Given the description of an element on the screen output the (x, y) to click on. 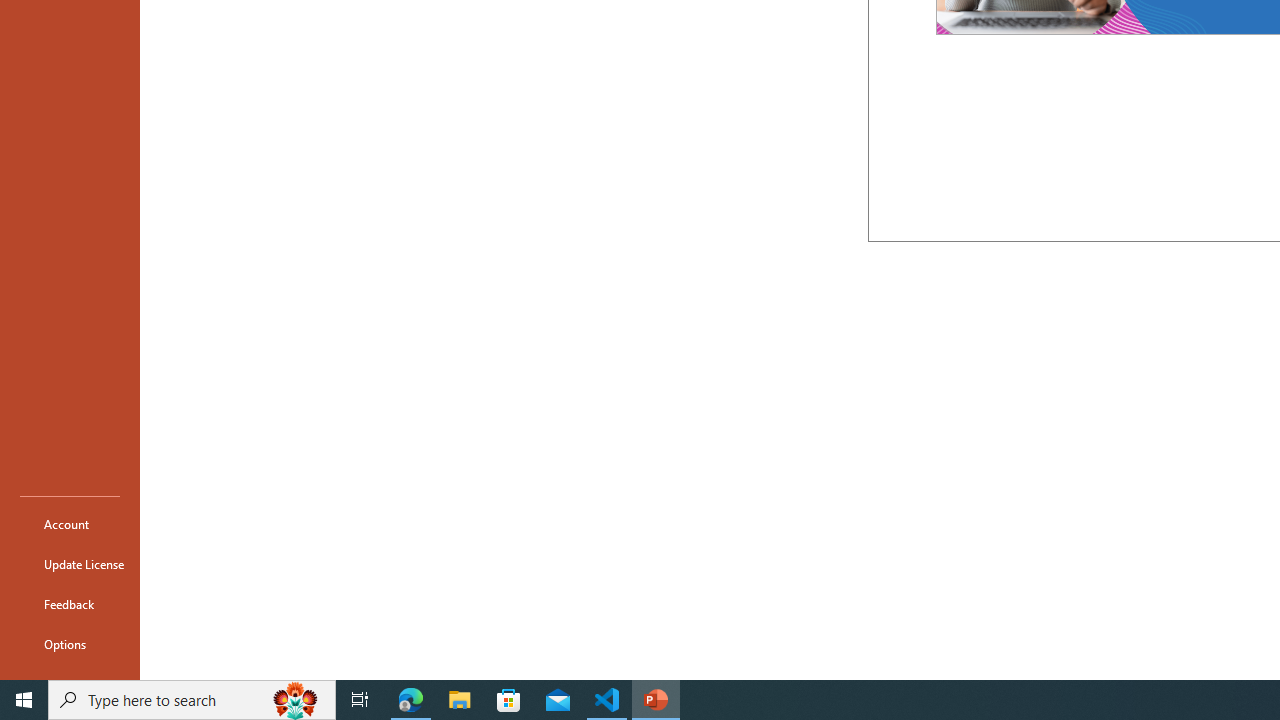
Account (69, 523)
Feedback (69, 603)
Options (69, 643)
Update License (69, 563)
